Given the description of an element on the screen output the (x, y) to click on. 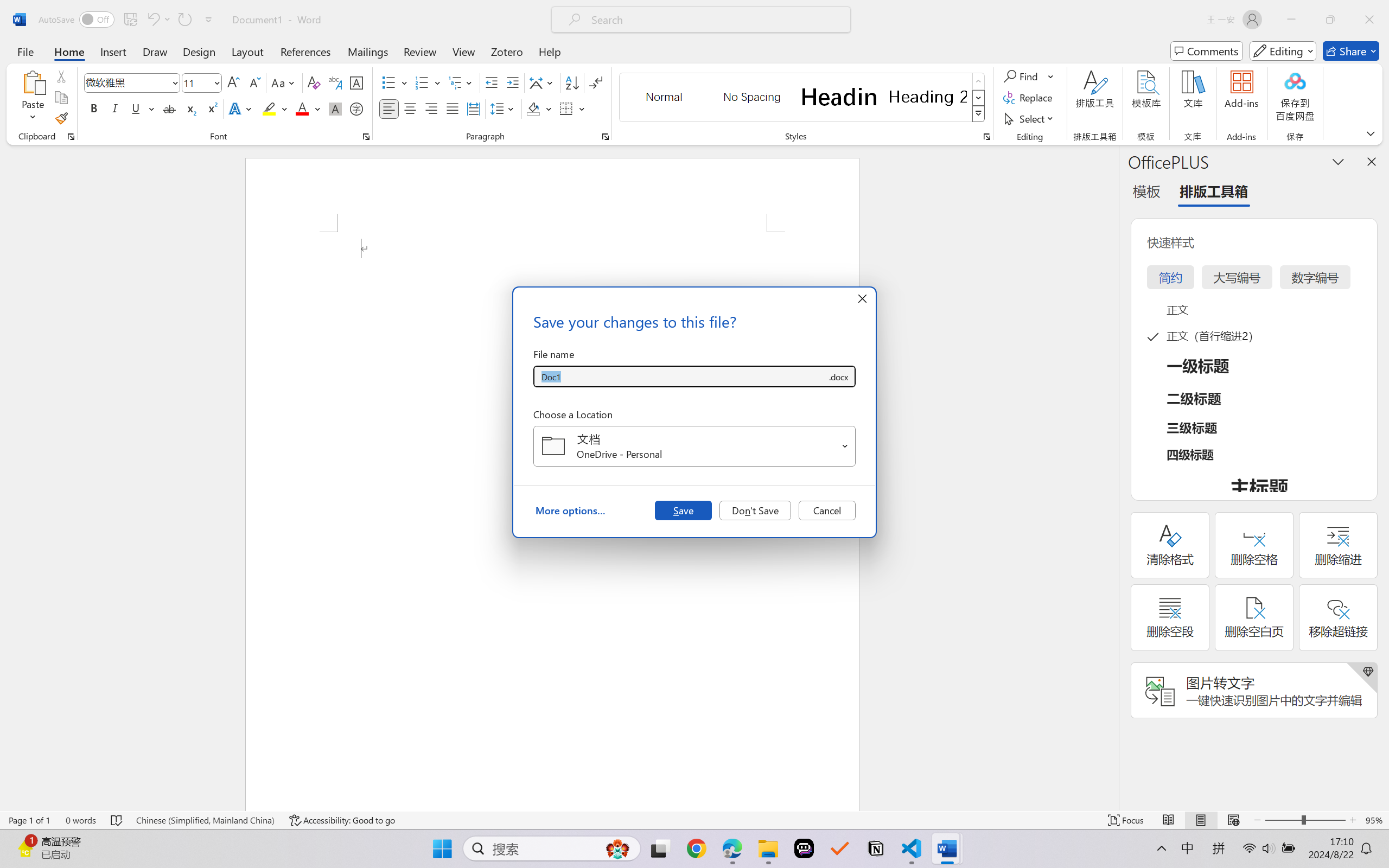
Language (196, 62)
Slide True or False Layout: used by no slides (115, 584)
Show Changes (347, 62)
Traditional (243, 60)
